Given the description of an element on the screen output the (x, y) to click on. 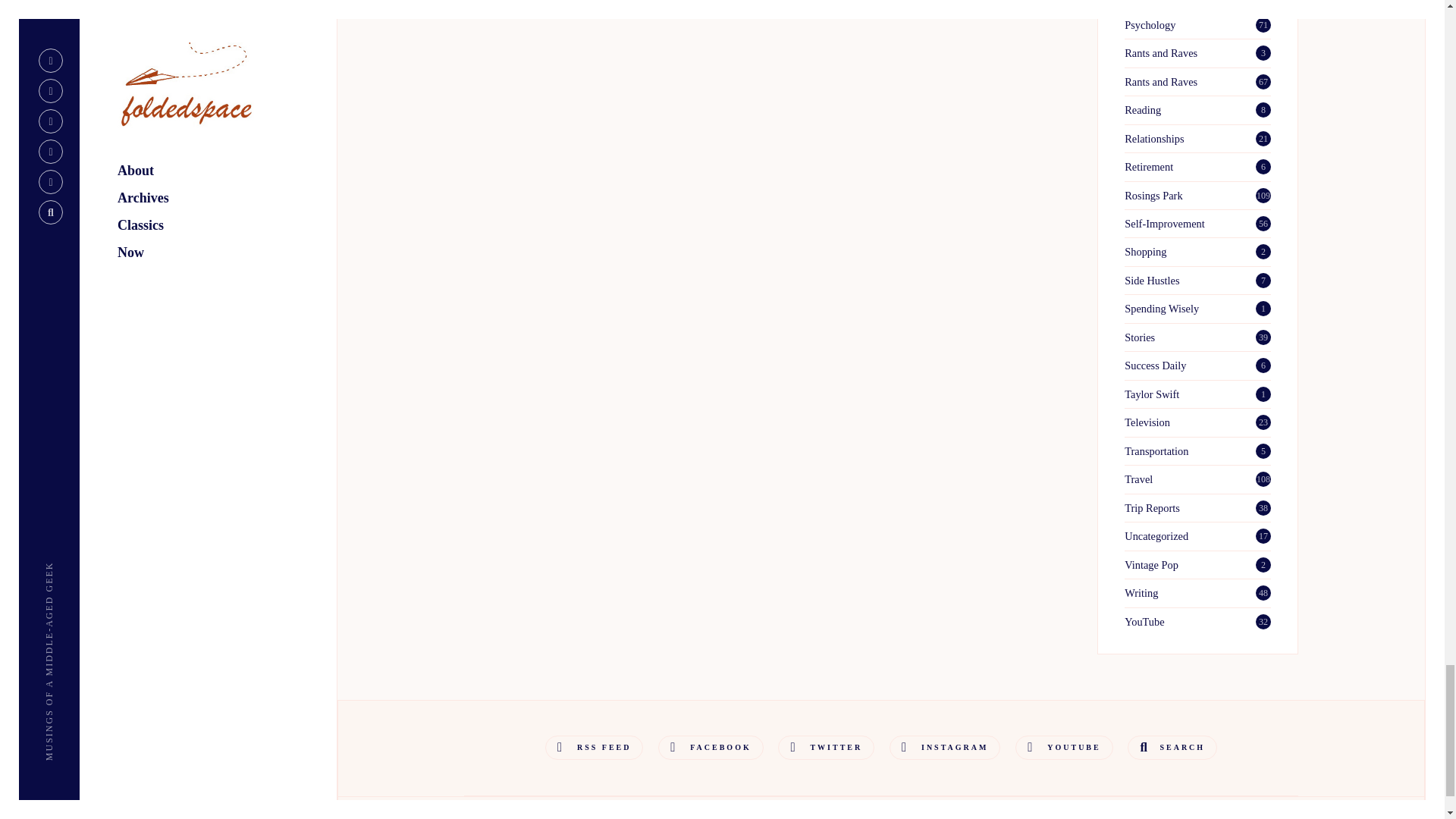
Rss Feed (593, 747)
